Given the description of an element on the screen output the (x, y) to click on. 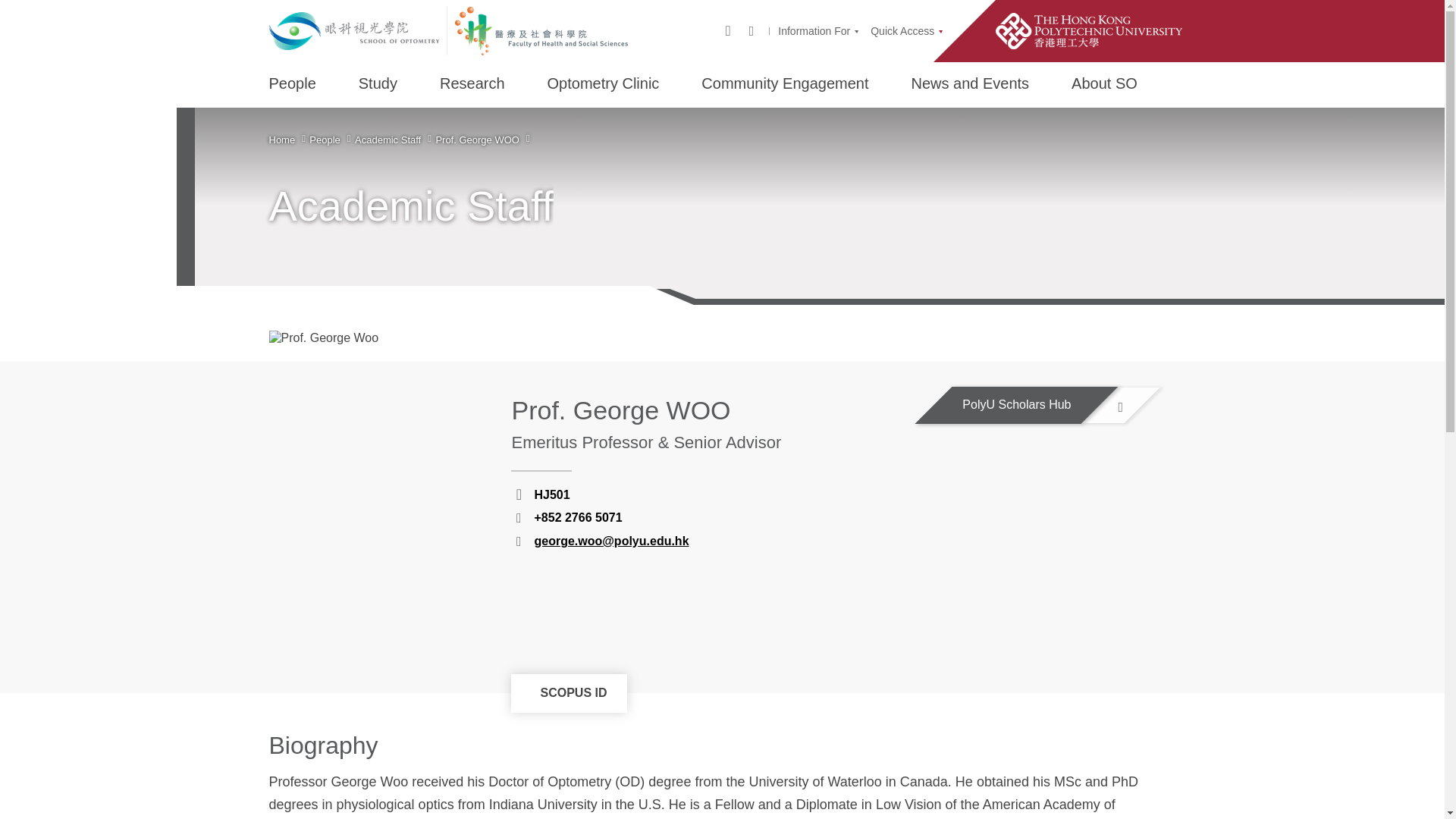
Information For (818, 30)
Quick Access (906, 30)
